Given the description of an element on the screen output the (x, y) to click on. 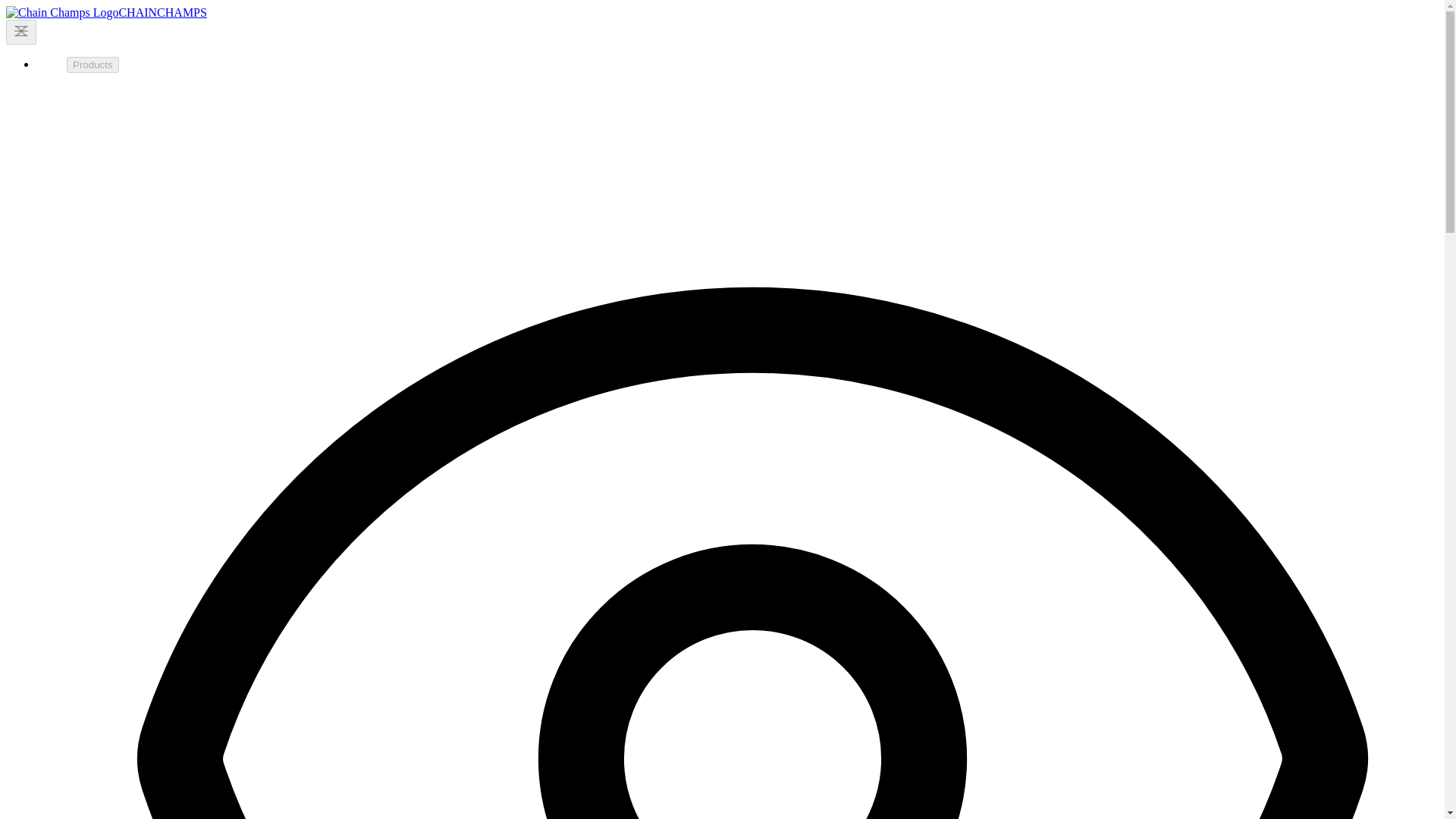
Toggle Menu (20, 32)
Toggle Menu (20, 31)
CHAINCHAMPS (105, 11)
Products (92, 64)
